Given the description of an element on the screen output the (x, y) to click on. 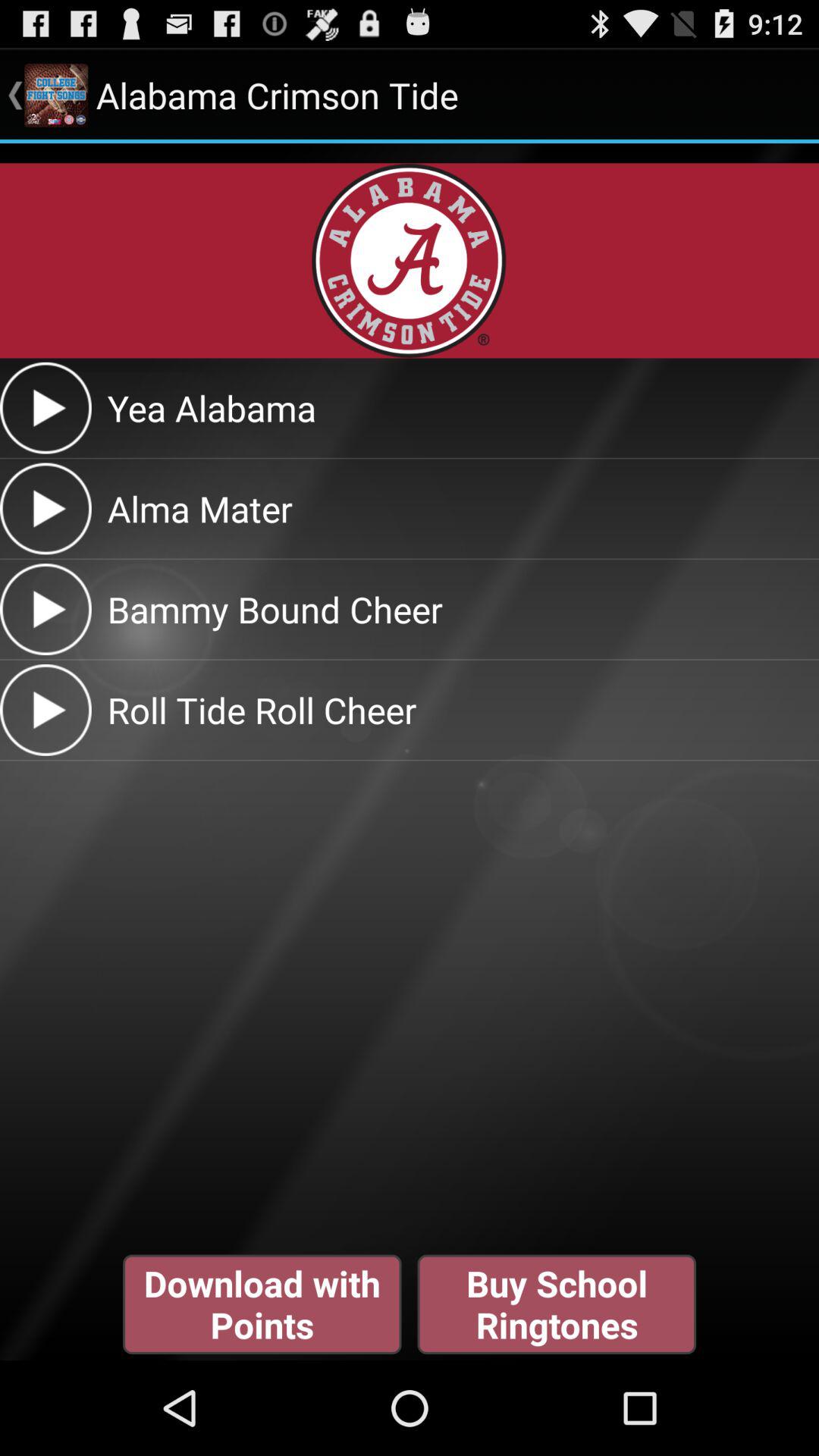
go to pay option (45, 609)
